Given the description of an element on the screen output the (x, y) to click on. 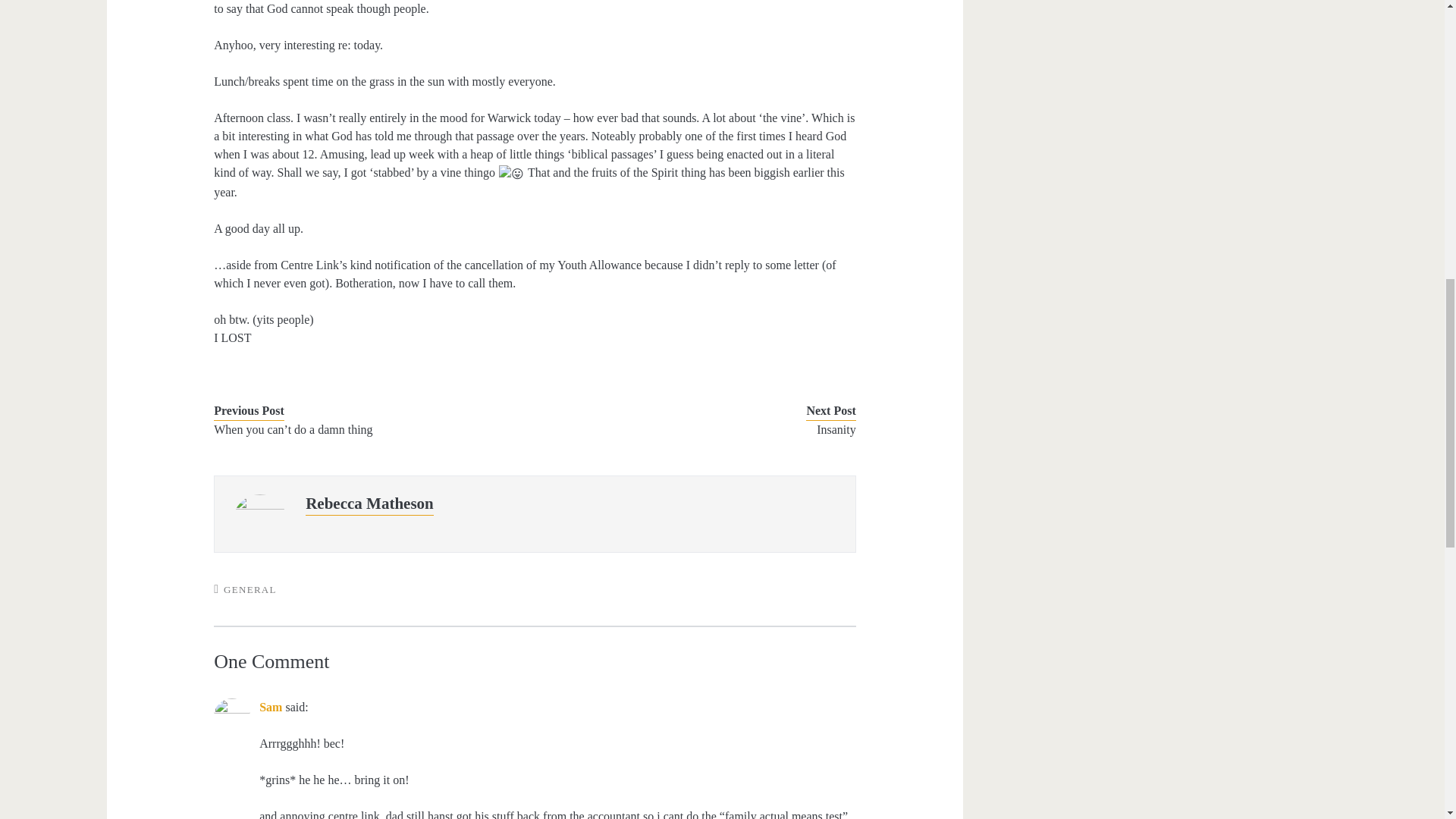
View all posts in General (250, 589)
GENERAL (250, 589)
Insanity (708, 429)
Rebecca Matheson (369, 503)
Sam (270, 707)
